Given the description of an element on the screen output the (x, y) to click on. 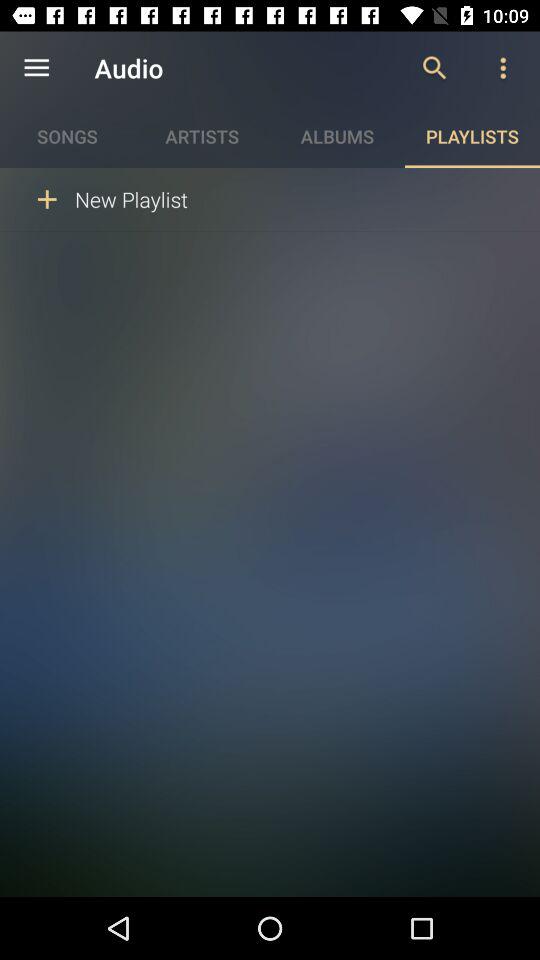
launch item above playlists icon (434, 67)
